Given the description of an element on the screen output the (x, y) to click on. 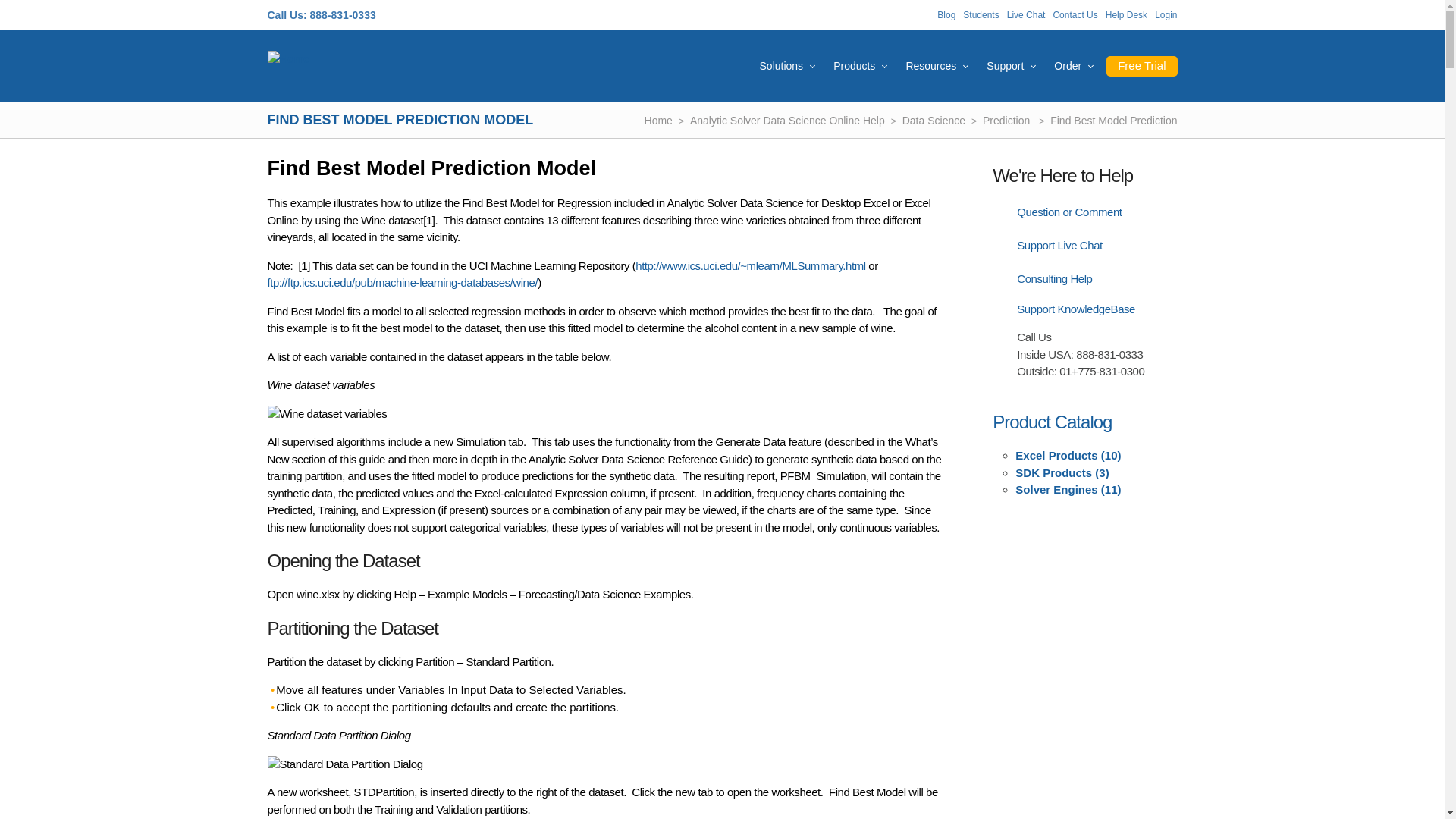
Help Desk (1126, 14)
Blog (946, 14)
Free Trial (1141, 66)
Contact Us (1074, 14)
Live Chat (1026, 14)
Solutions (781, 65)
Which product is right for me? (853, 65)
Students (980, 14)
Products (853, 65)
